Given the description of an element on the screen output the (x, y) to click on. 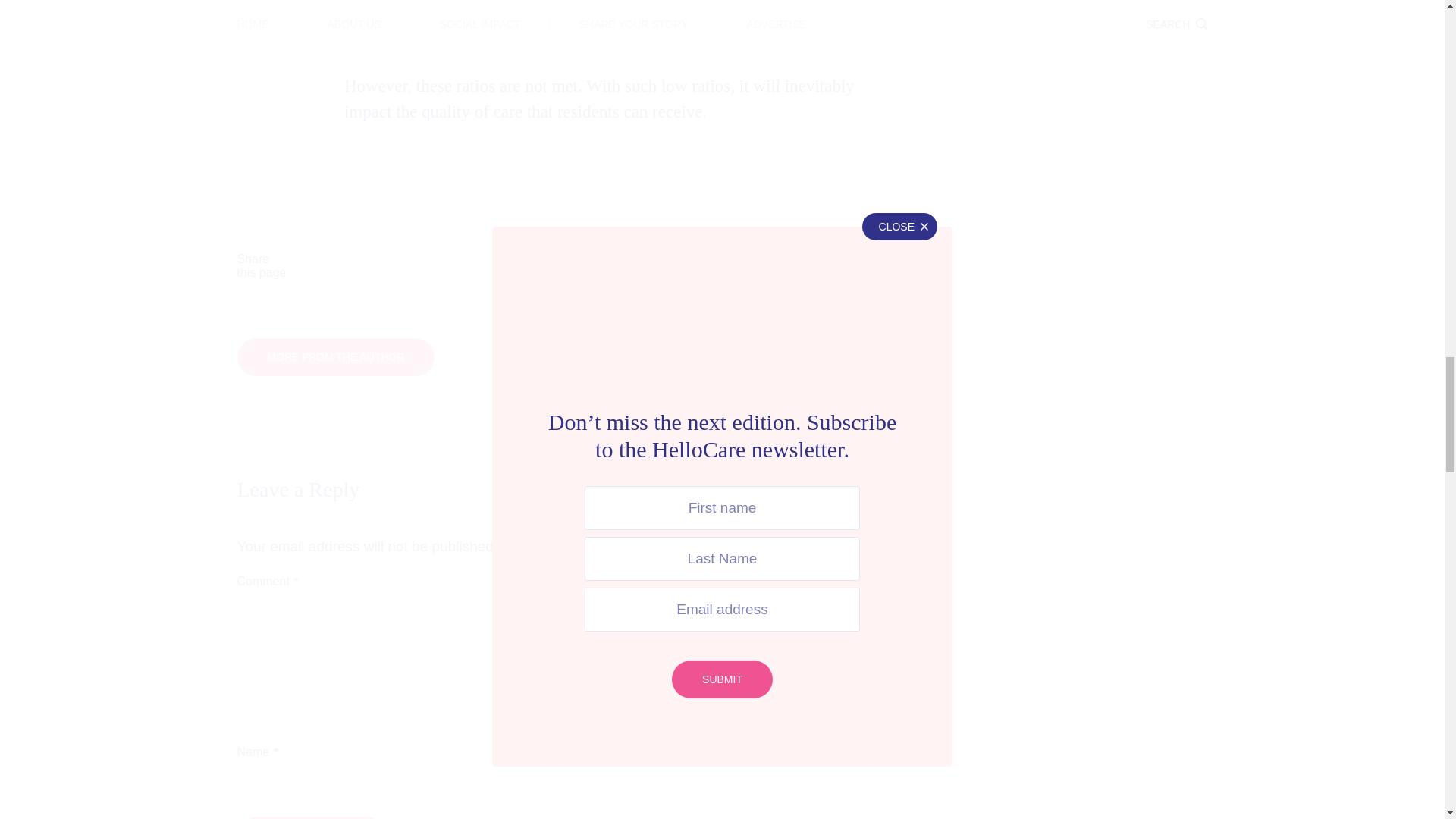
Share on Facebook (372, 265)
Share on Twitter (512, 265)
Share via Email (792, 265)
Share on linkedIn (652, 265)
Post Comment (309, 817)
